Given the description of an element on the screen output the (x, y) to click on. 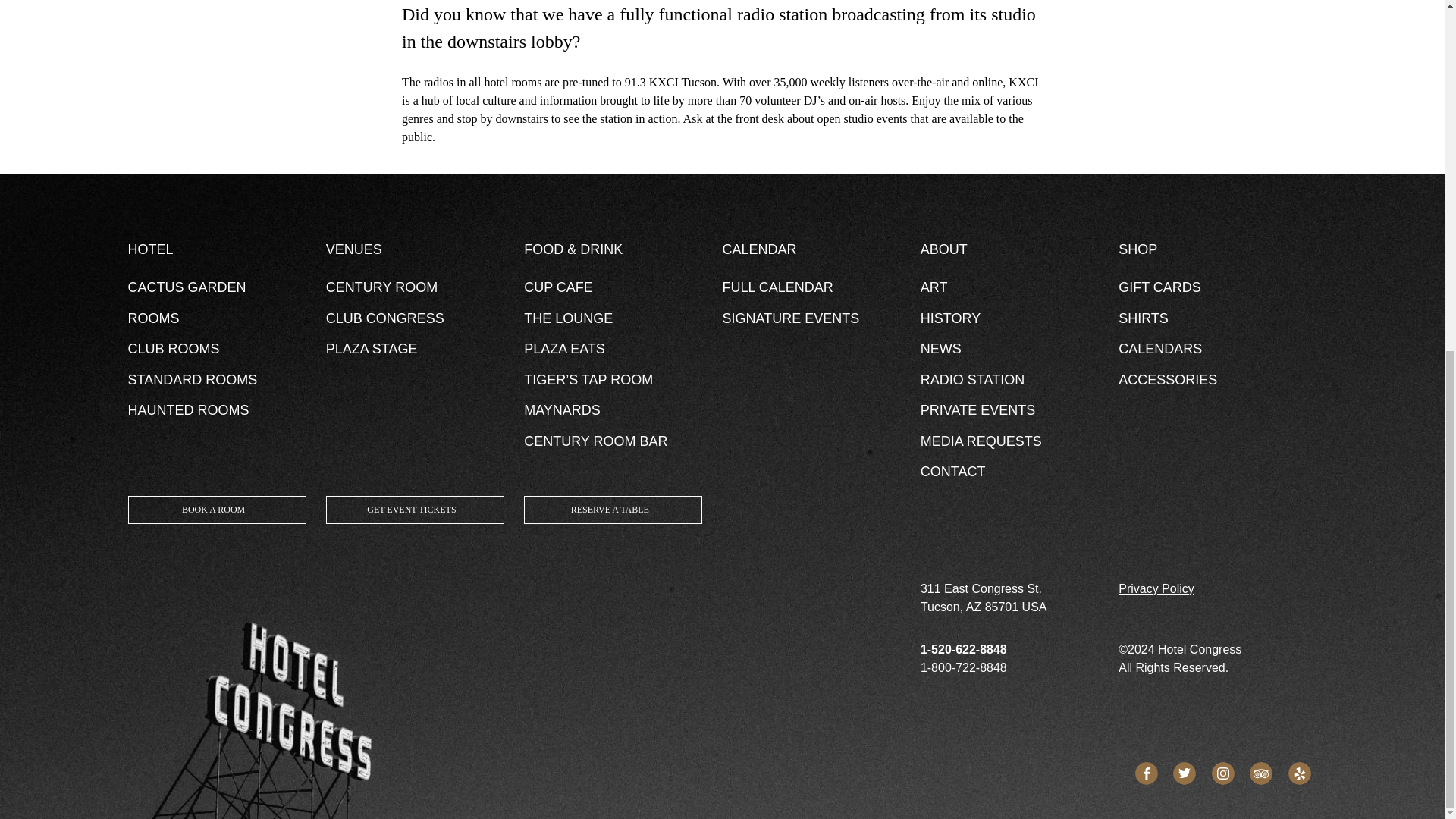
Privacy Policy (1155, 588)
